Given the description of an element on the screen output the (x, y) to click on. 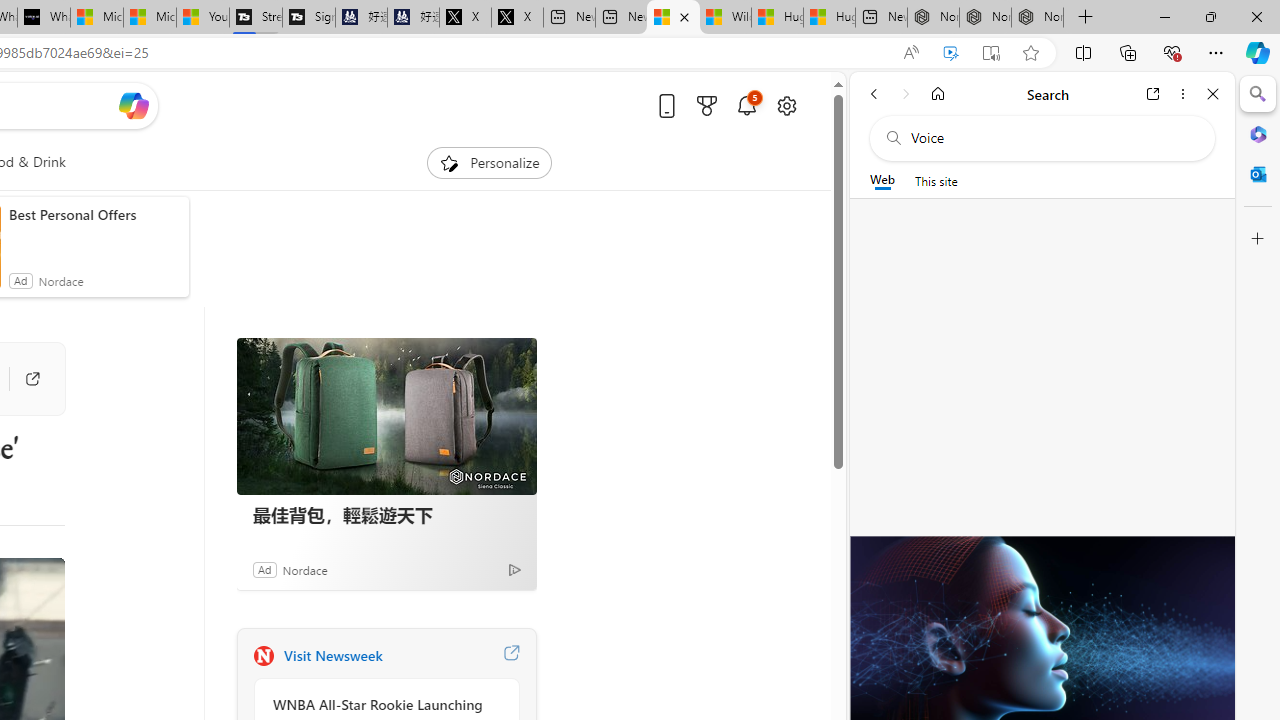
What's the best AI voice generator? - voice.ai (43, 17)
Web scope (882, 180)
Personalize (488, 162)
Ad (264, 569)
Nordace - Siena Pro 15 Essential Set (1037, 17)
Huge shark washes ashore at New York City beach | Watch (829, 17)
More options (1182, 93)
Enhance video (950, 53)
Outlook (1258, 174)
